Given the description of an element on the screen output the (x, y) to click on. 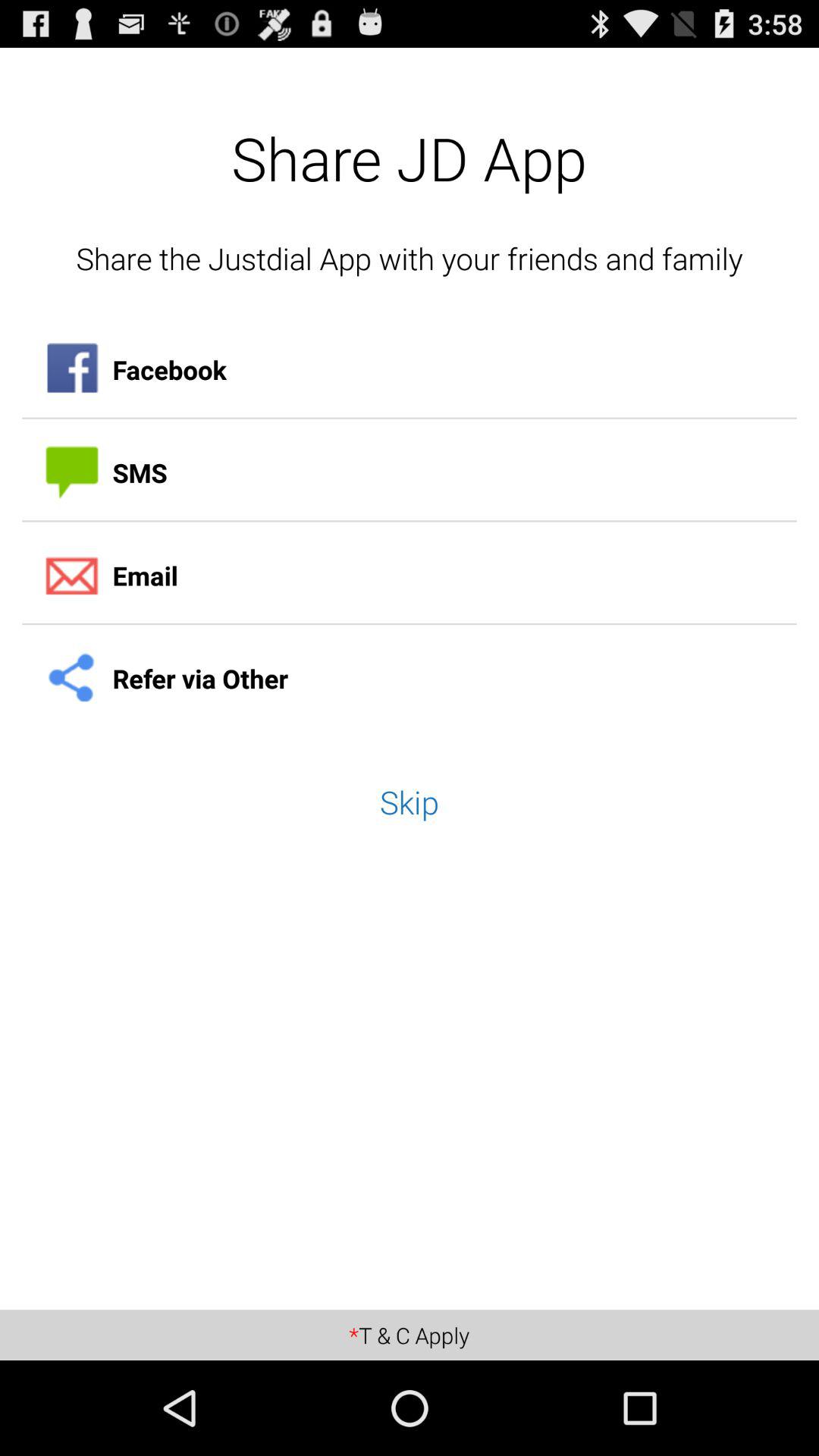
select app below the share the justdial item (409, 369)
